Given the description of an element on the screen output the (x, y) to click on. 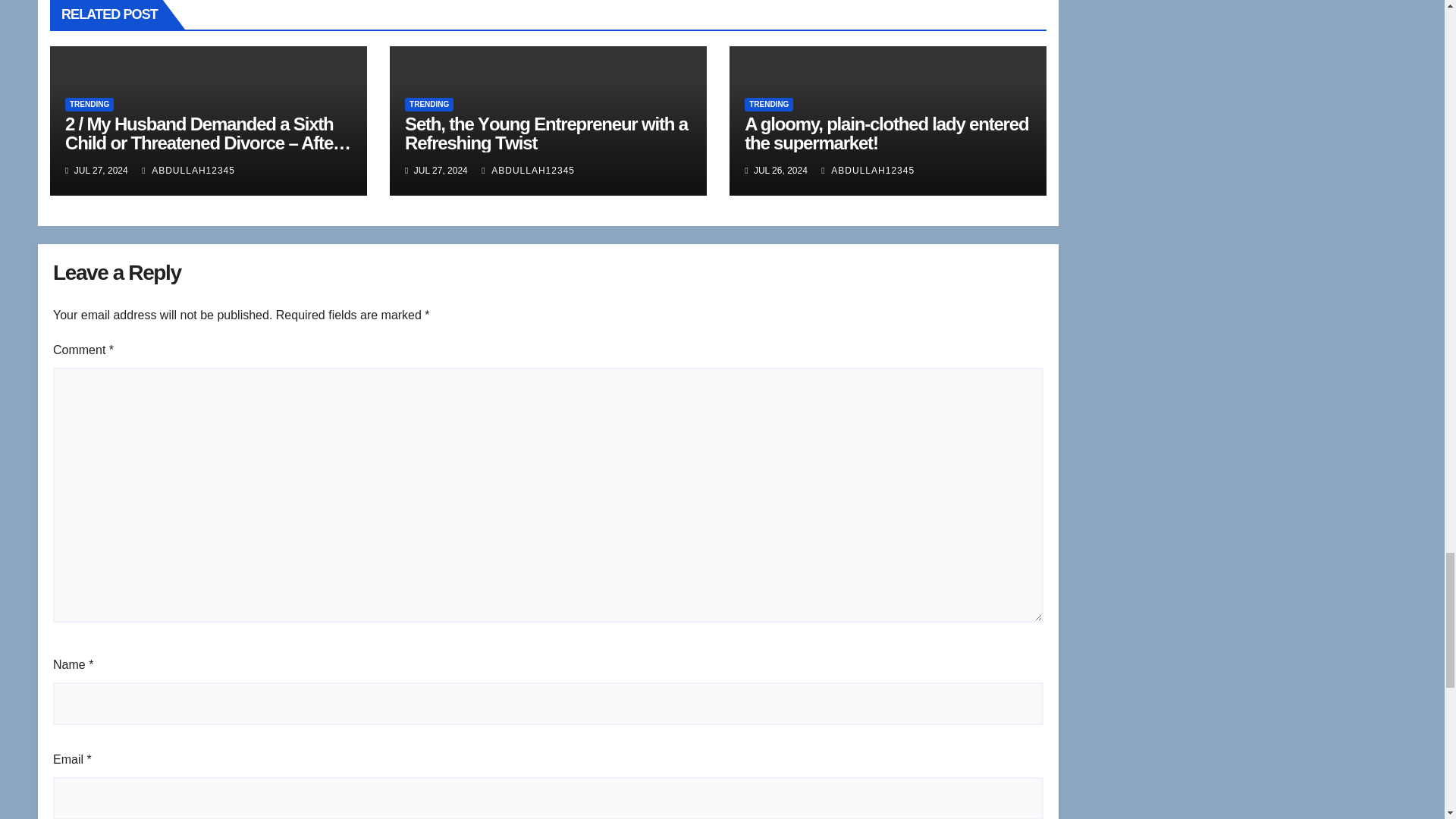
ABDULLAH12345 (187, 170)
TRENDING (768, 104)
A gloomy, plain-clothed lady entered the supermarket! (885, 133)
TRENDING (89, 104)
TRENDING (428, 104)
ABDULLAH12345 (528, 170)
